Given the description of an element on the screen output the (x, y) to click on. 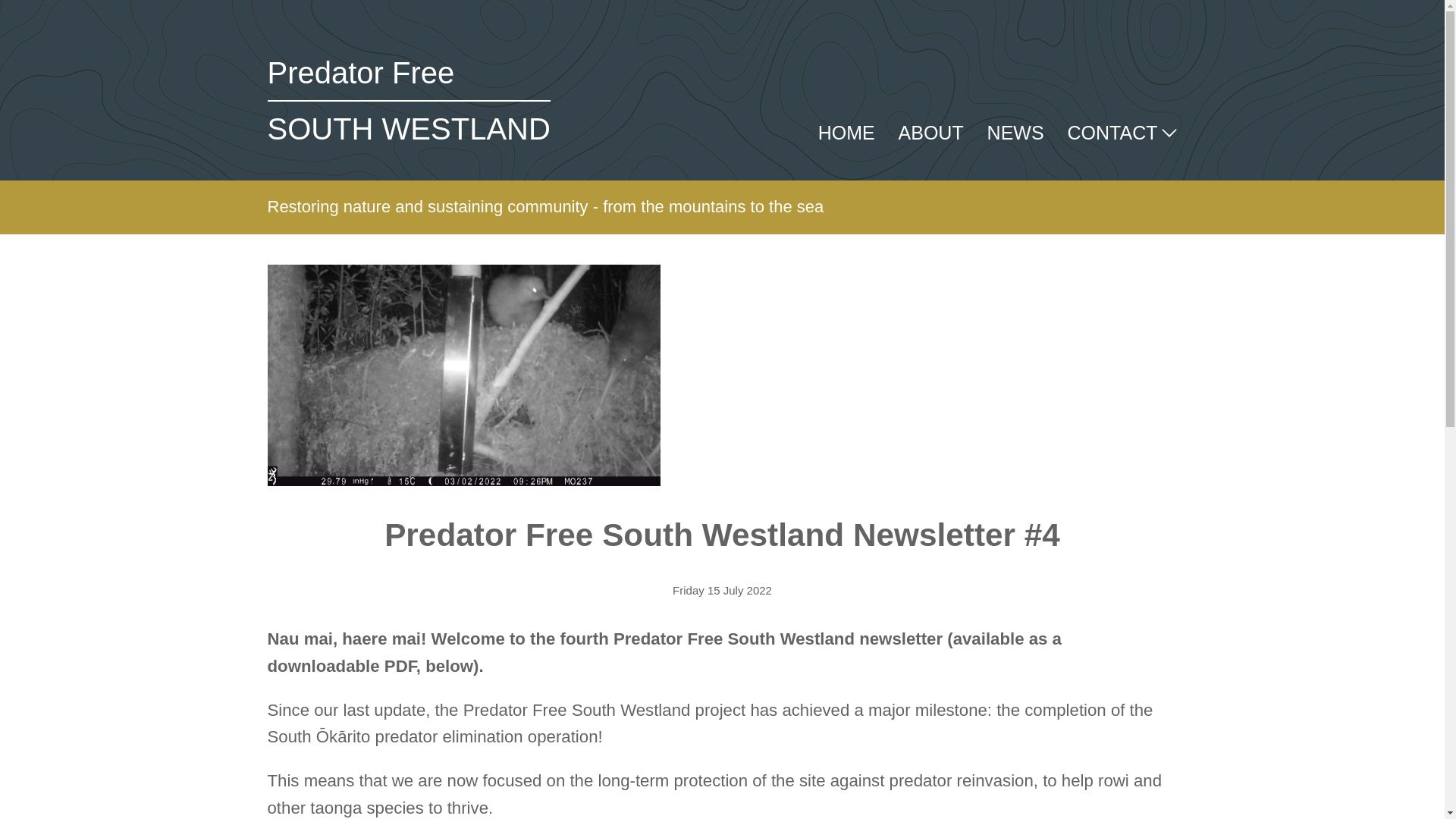
CONTACT (1118, 132)
NEWS (408, 100)
ABOUT (1015, 132)
HOME (930, 132)
